Given the description of an element on the screen output the (x, y) to click on. 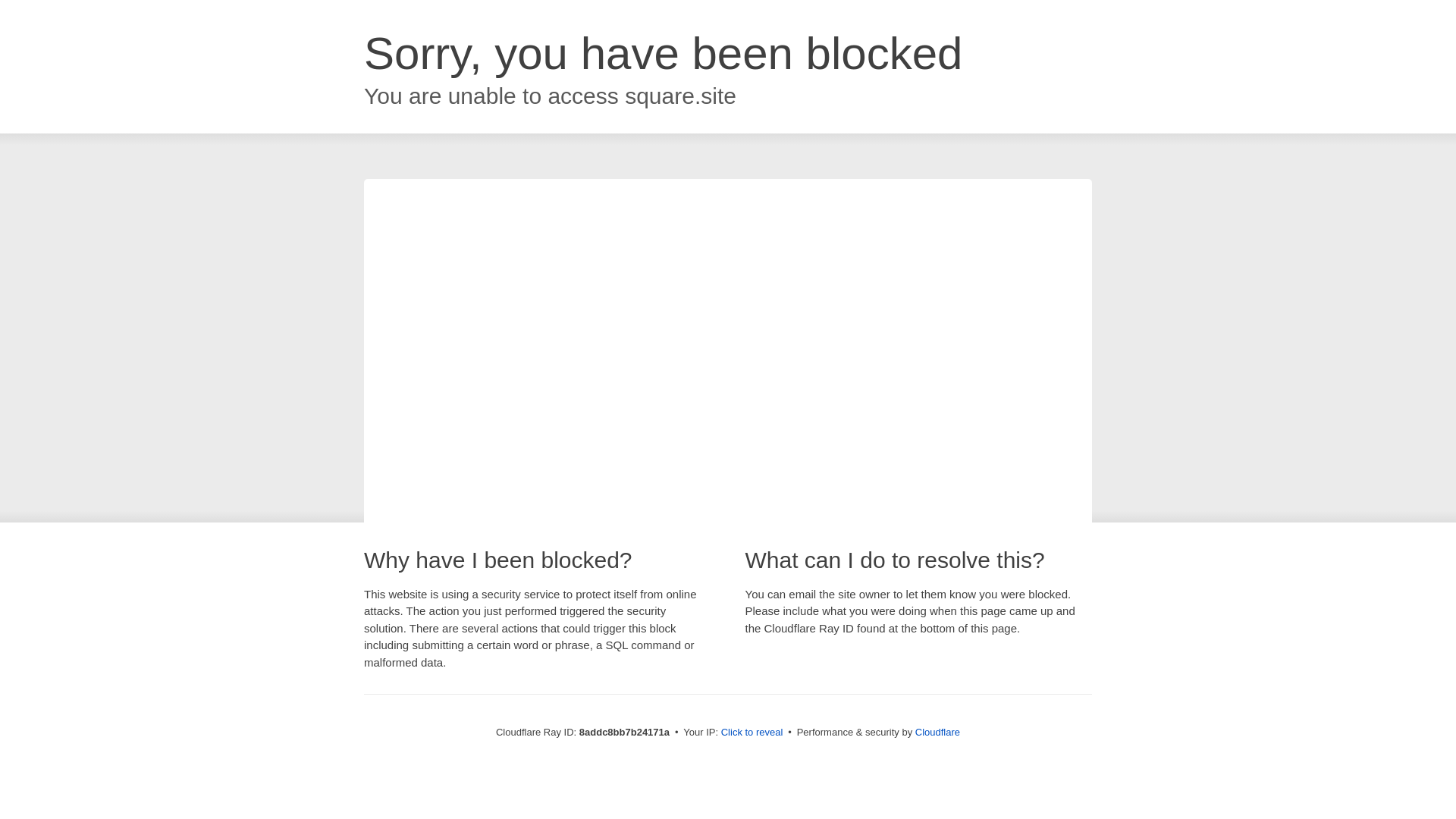
Click to reveal (751, 732)
Cloudflare (937, 731)
